Given the description of an element on the screen output the (x, y) to click on. 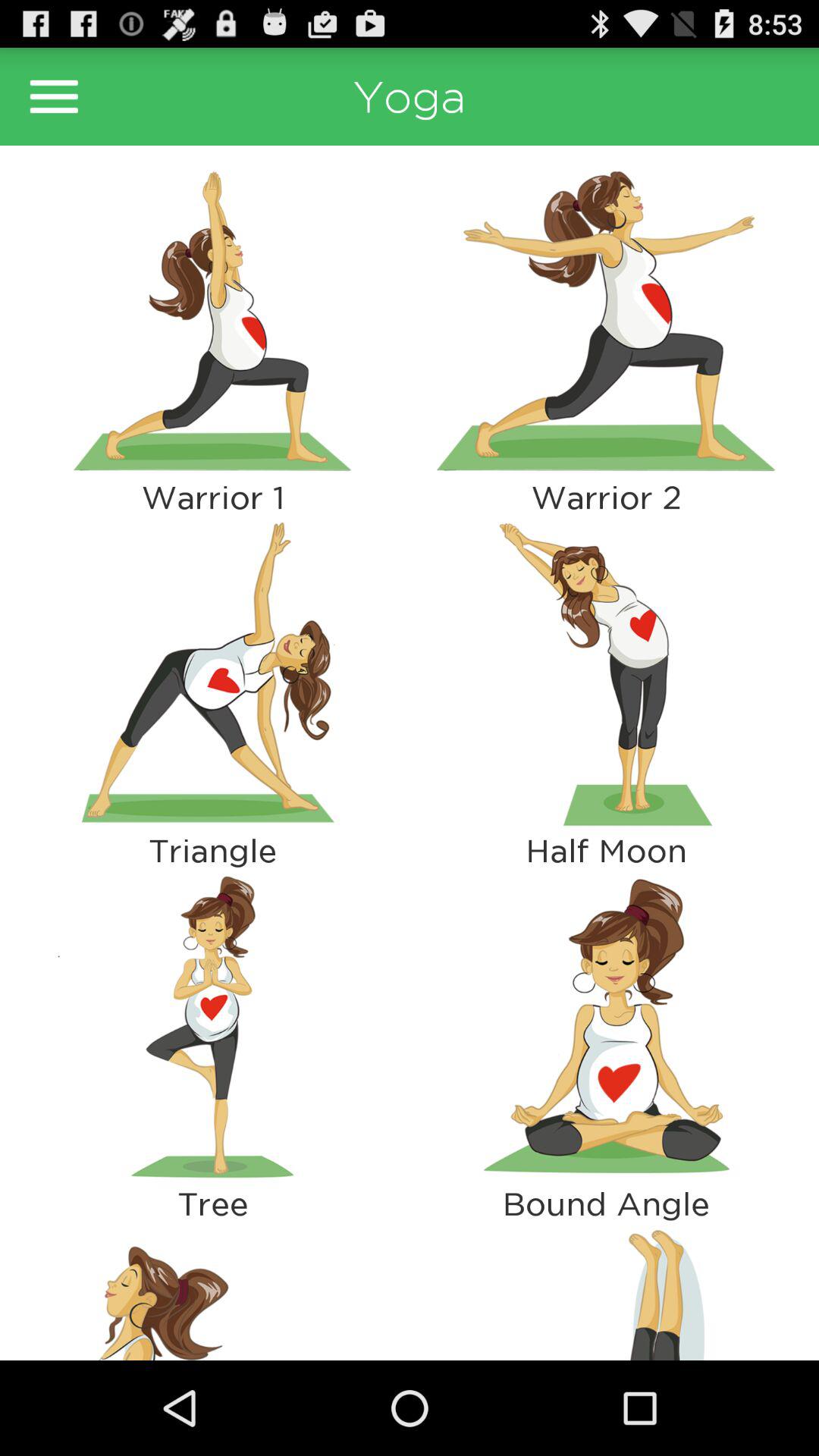
highlight (606, 673)
